Given the description of an element on the screen output the (x, y) to click on. 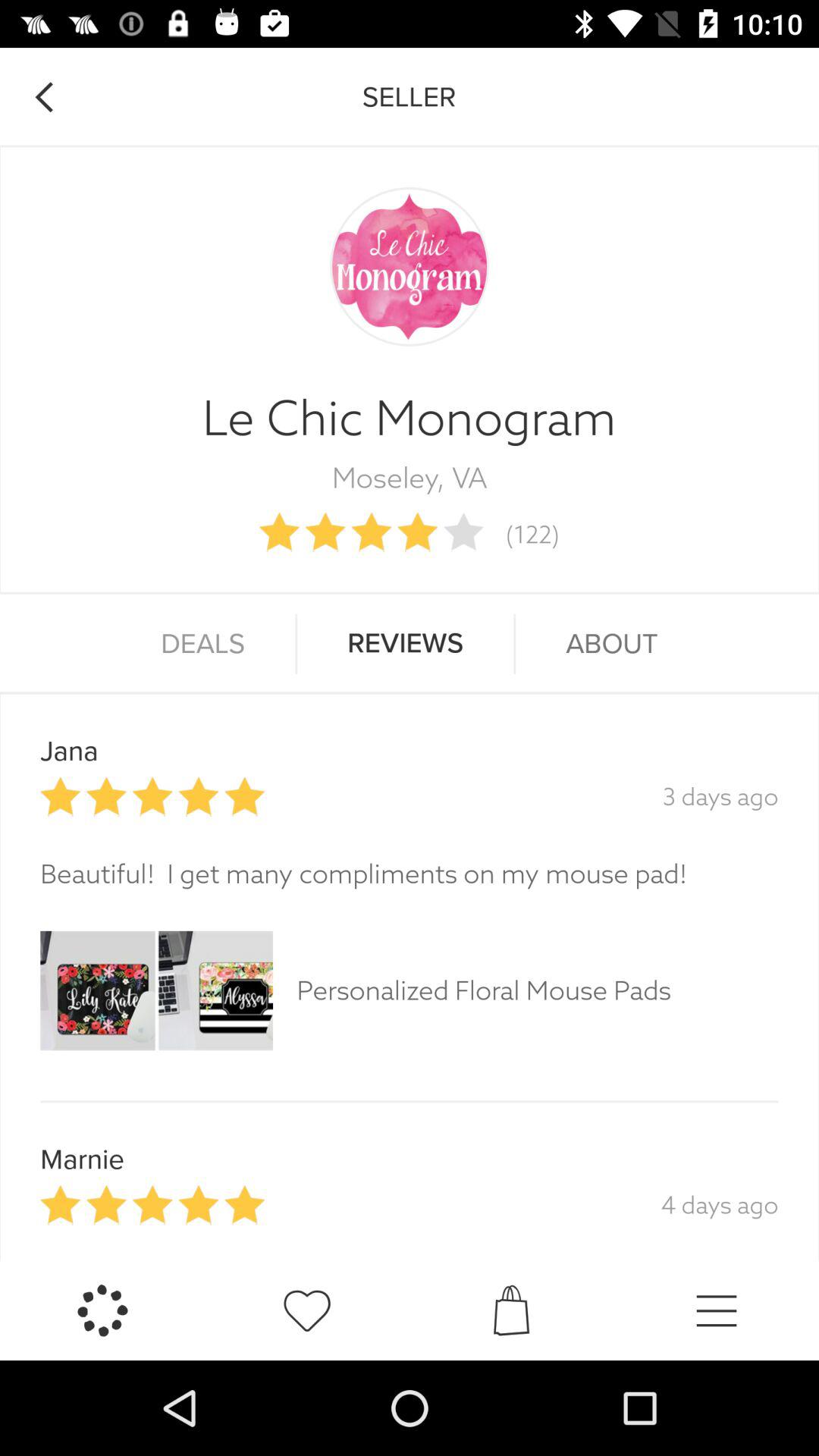
turn off about (611, 643)
